Given the description of an element on the screen output the (x, y) to click on. 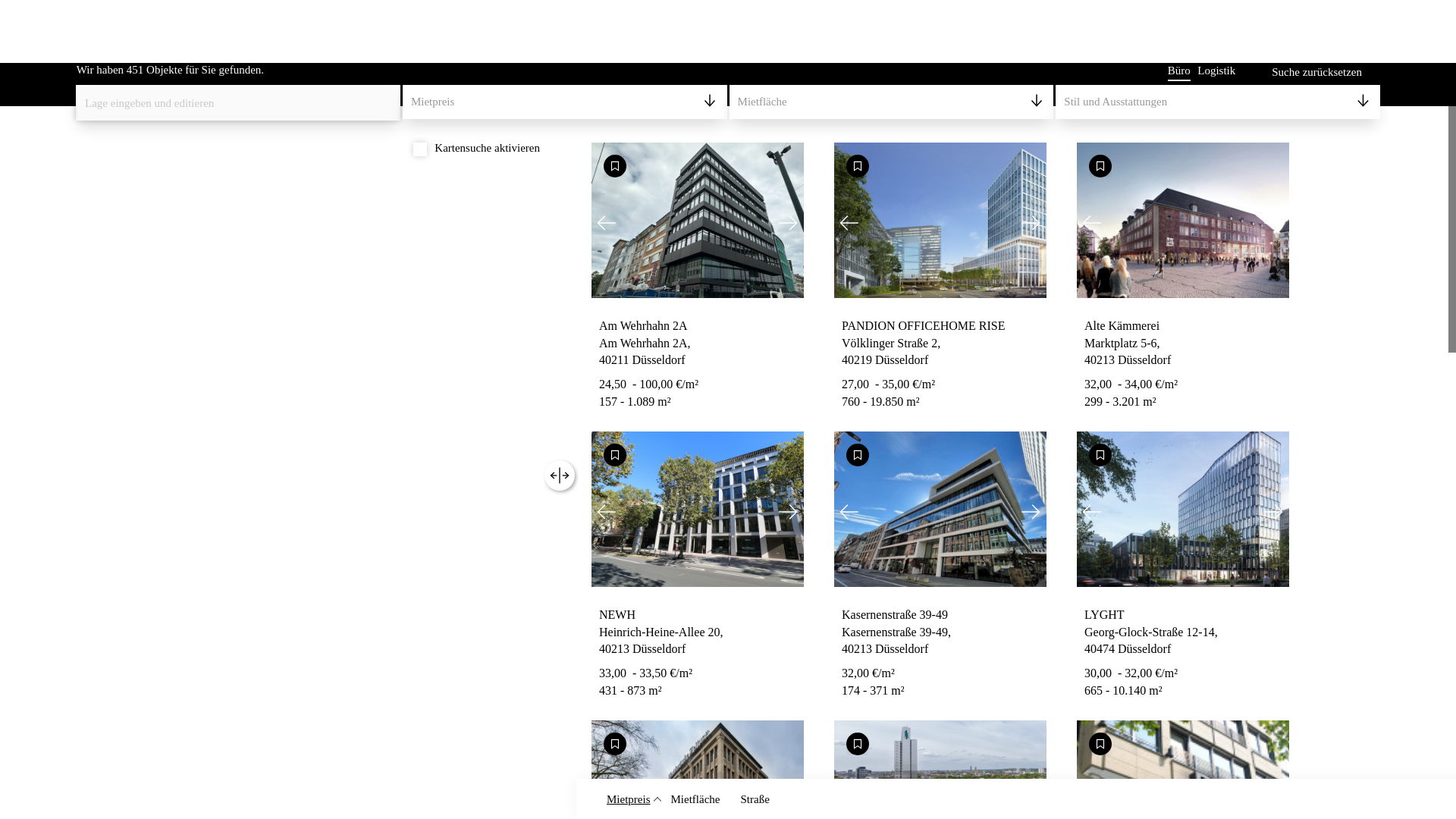
Logistik (1215, 70)
false (419, 149)
Mietpreis (564, 101)
Stil und Ausstattungen (1217, 101)
